Given the description of an element on the screen output the (x, y) to click on. 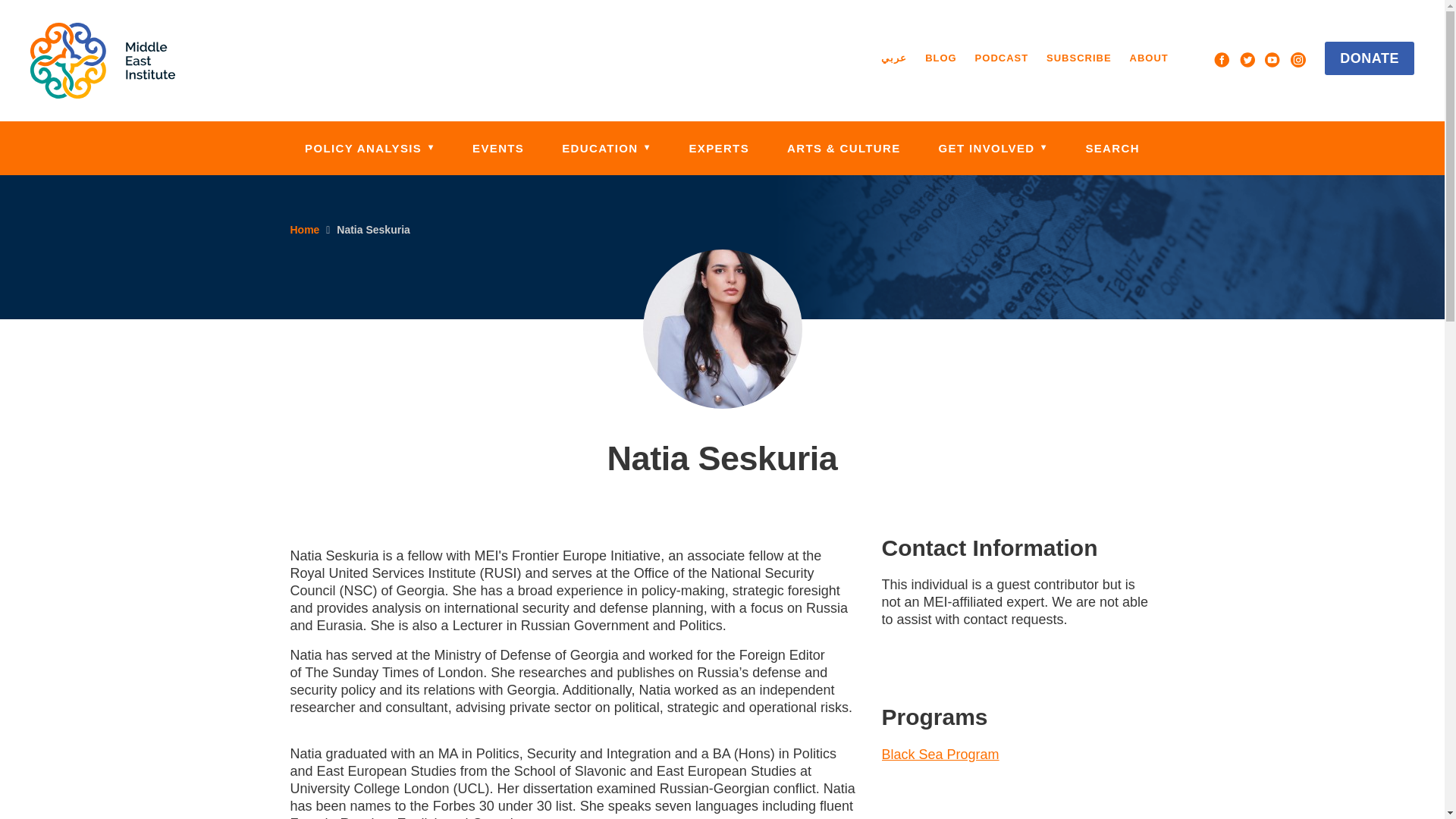
Home (102, 60)
MEI Insights blog (940, 57)
